Given the description of an element on the screen output the (x, y) to click on. 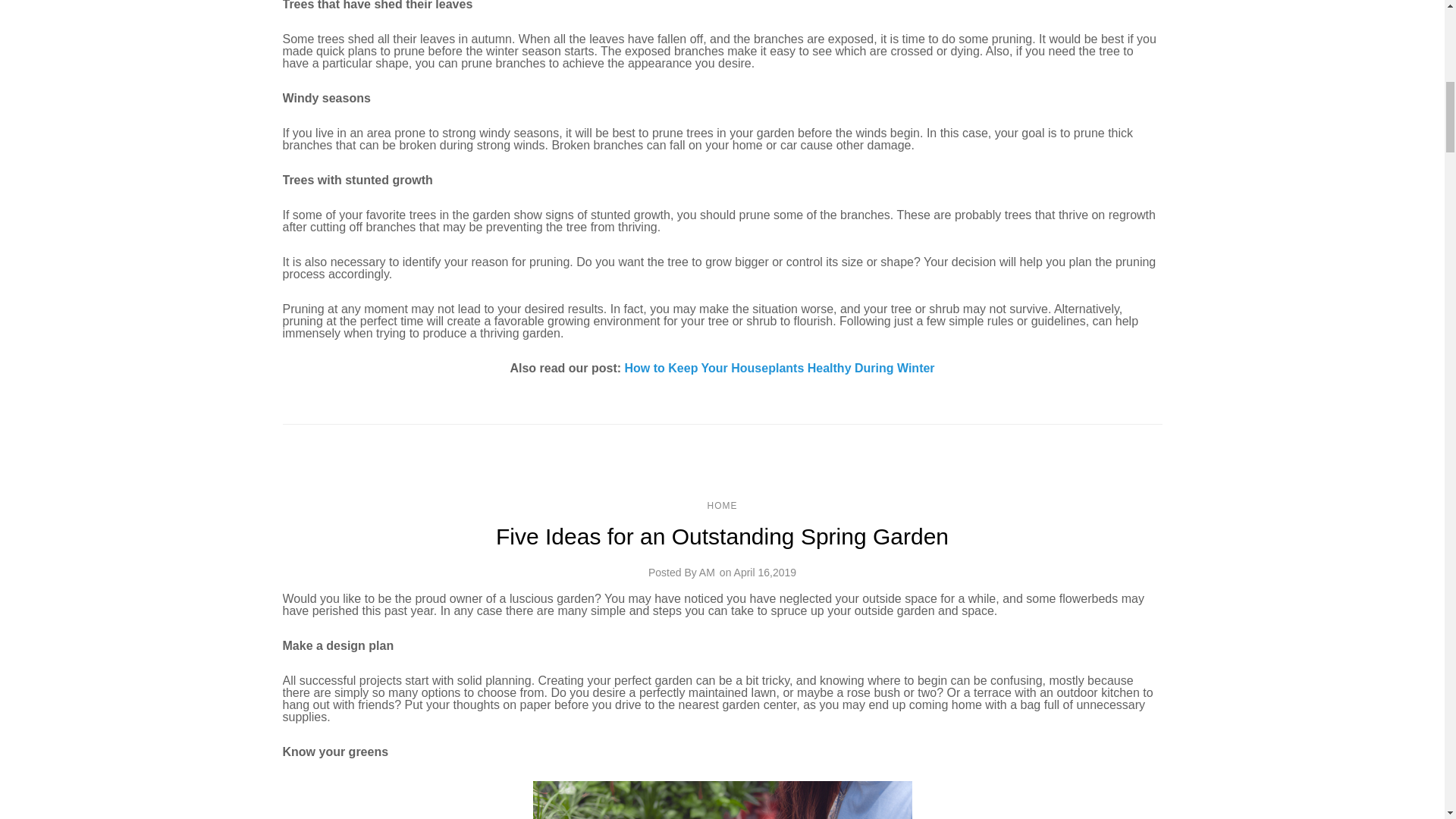
April 16,2019 (764, 572)
HOME (721, 505)
How to Keep Your Houseplants Healthy During Winter (779, 367)
Five Ideas for an Outstanding Spring Garden (722, 536)
